Given the description of an element on the screen output the (x, y) to click on. 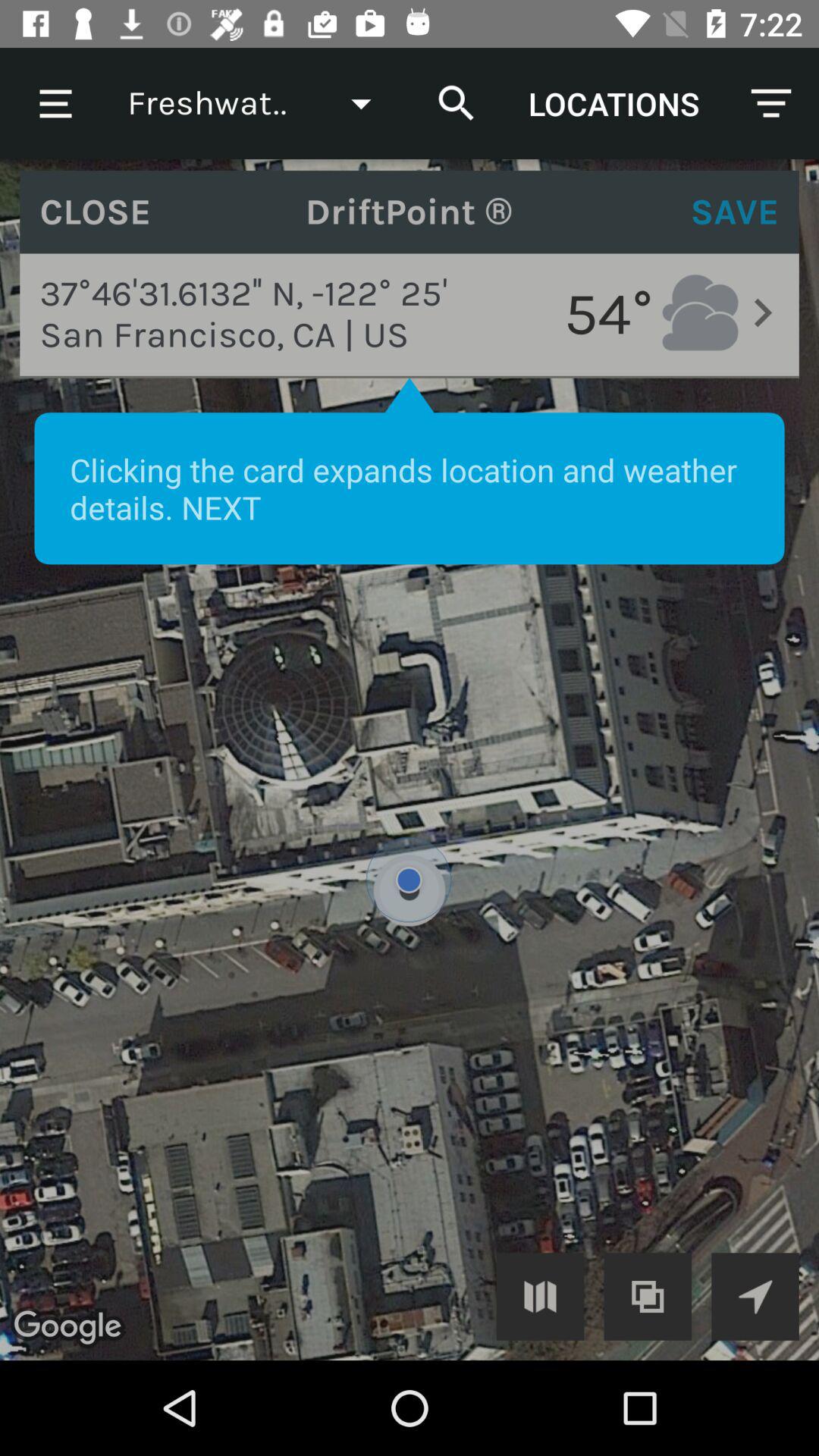
go to arrow (755, 1296)
